Given the description of an element on the screen output the (x, y) to click on. 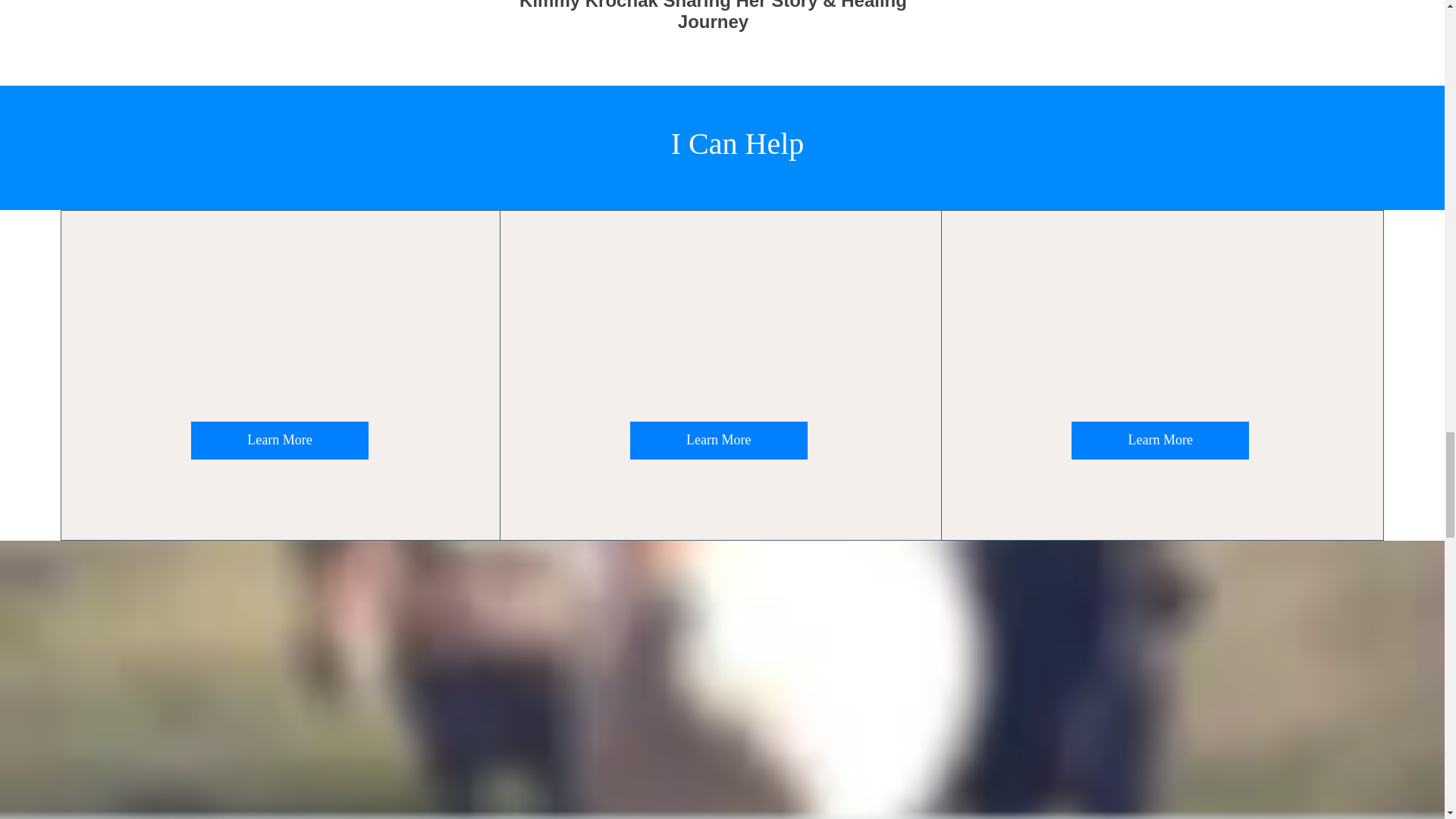
Learn More (719, 440)
Learn More (1160, 440)
Learn More (279, 440)
